Given the description of an element on the screen output the (x, y) to click on. 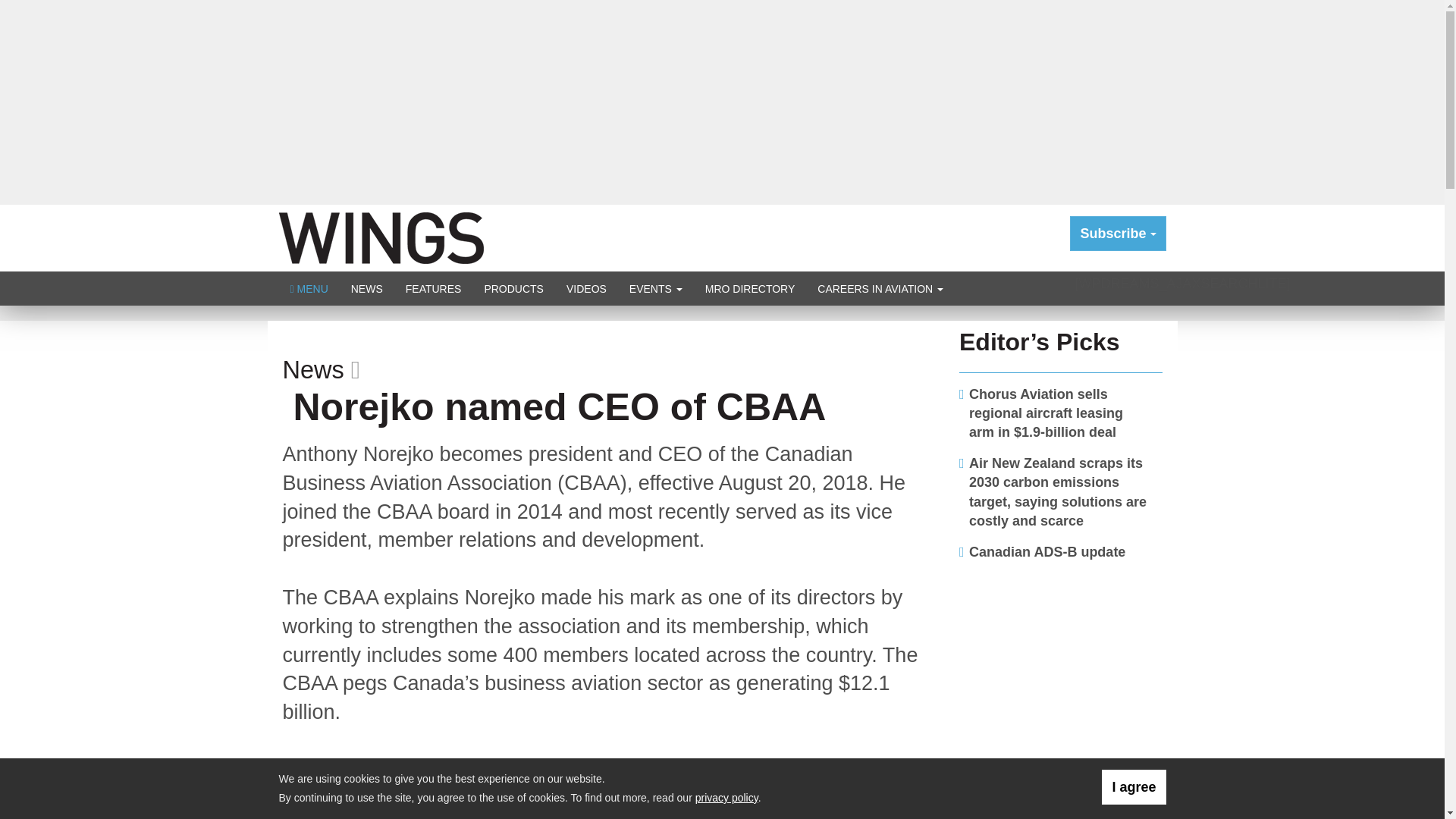
EVENTS (655, 288)
VIDEOS (585, 288)
Click to show site navigation (309, 288)
MRO DIRECTORY (750, 288)
NEWS (366, 288)
Wings Magazine (381, 237)
PRODUCTS (512, 288)
MENU (309, 288)
Subscribe (1118, 233)
FEATURES (433, 288)
CAREERS IN AVIATION (880, 288)
3rd party ad content (1060, 668)
